Given the description of an element on the screen output the (x, y) to click on. 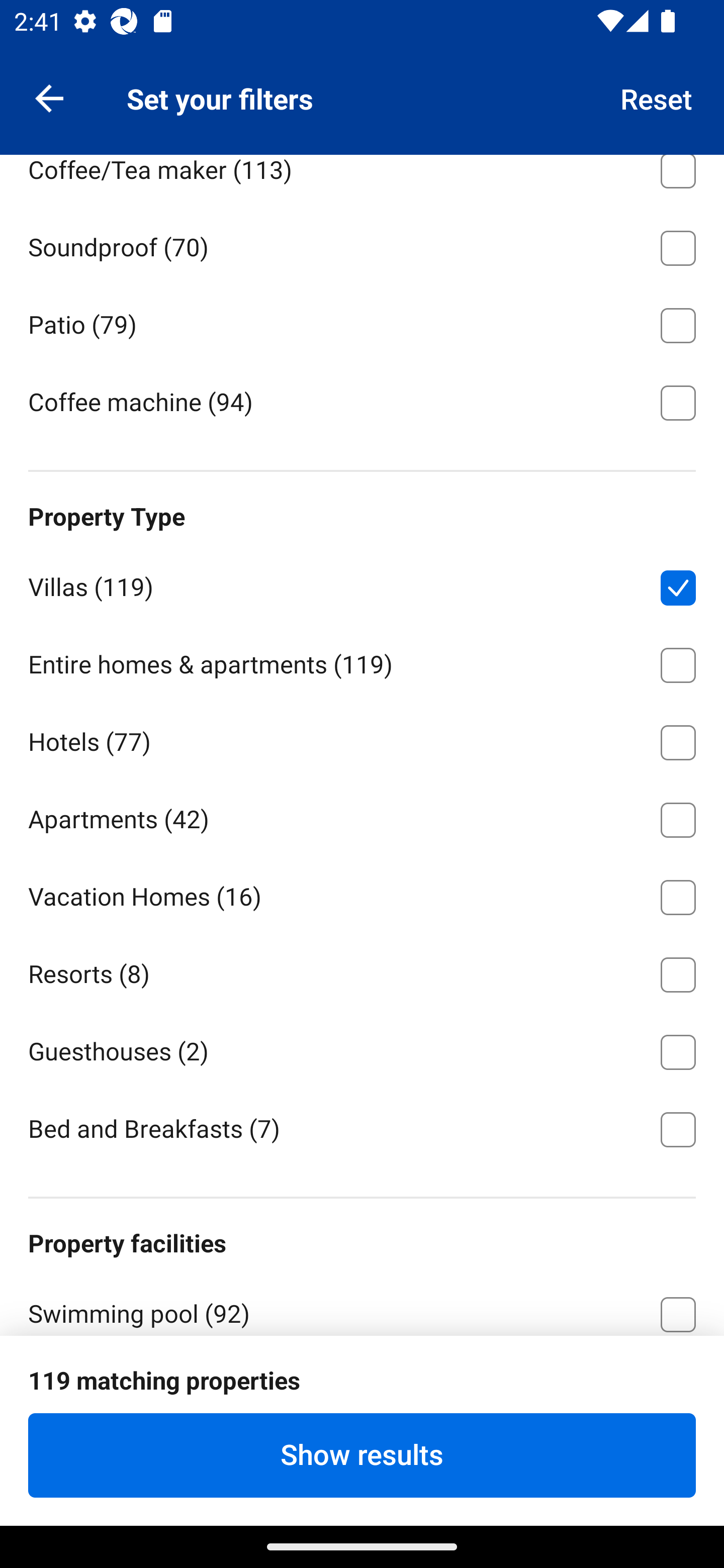
Navigate up (49, 97)
Electric kettle ⁦(89) (361, 89)
Reset (656, 97)
Coffee/Tea maker ⁦(113) (361, 180)
Soundproof ⁦(70) (361, 244)
Patio ⁦(79) (361, 321)
Coffee machine ⁦(94) (361, 401)
Villas ⁦(119) (361, 583)
Entire homes & apartments ⁦(119) (361, 661)
Hotels ⁦(77) (361, 738)
Apartments ⁦(42) (361, 816)
Vacation Homes ⁦(16) (361, 894)
Resorts ⁦(8) (361, 970)
Guesthouses ⁦(2) (361, 1048)
Bed and Breakfasts ⁦(7) (361, 1128)
Swimming pool ⁦(92) (361, 1304)
Free WiFi ⁦(116) (361, 1388)
Show results (361, 1454)
